Given the description of an element on the screen output the (x, y) to click on. 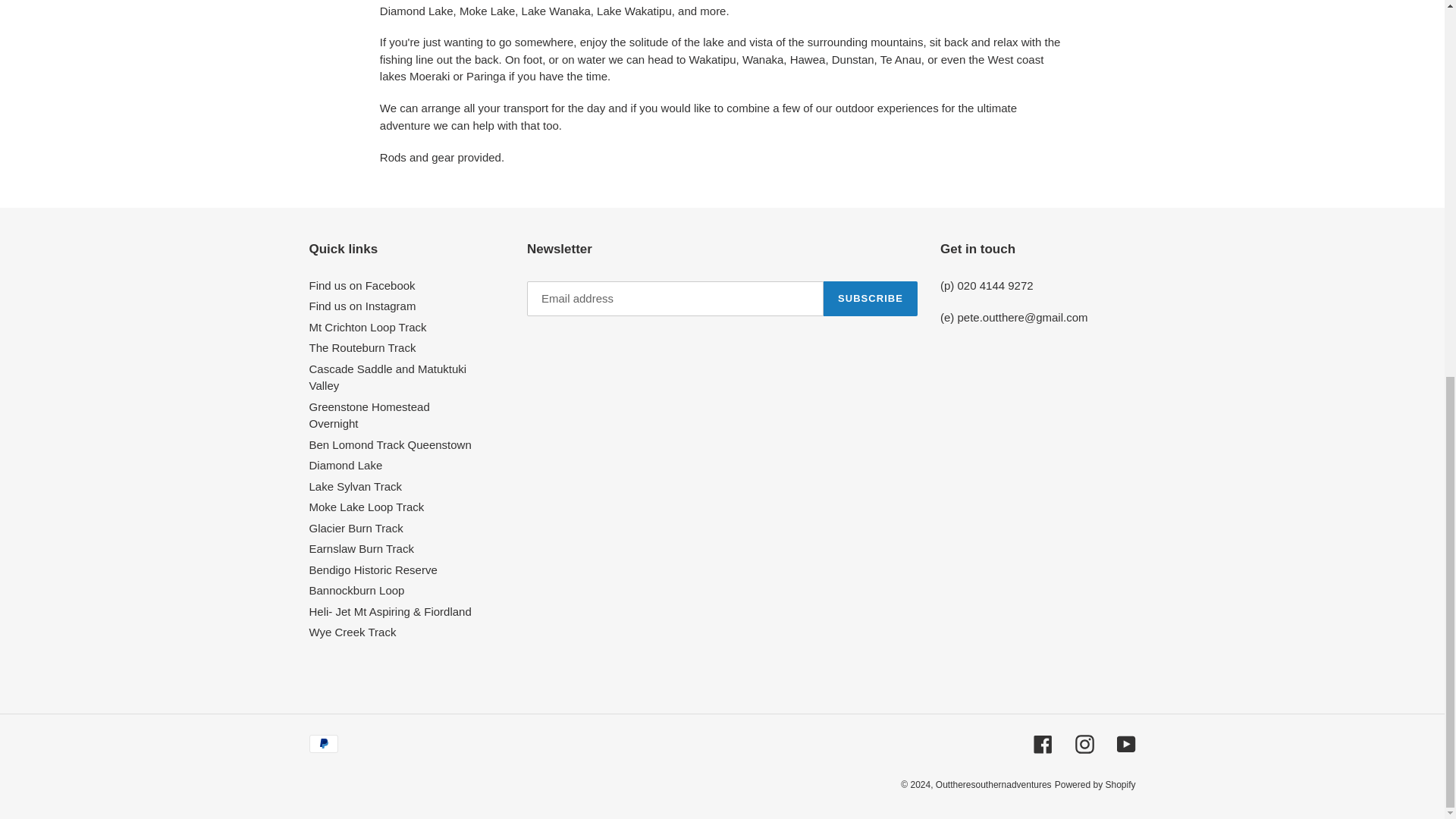
Find us on Facebook (361, 285)
